Given the description of an element on the screen output the (x, y) to click on. 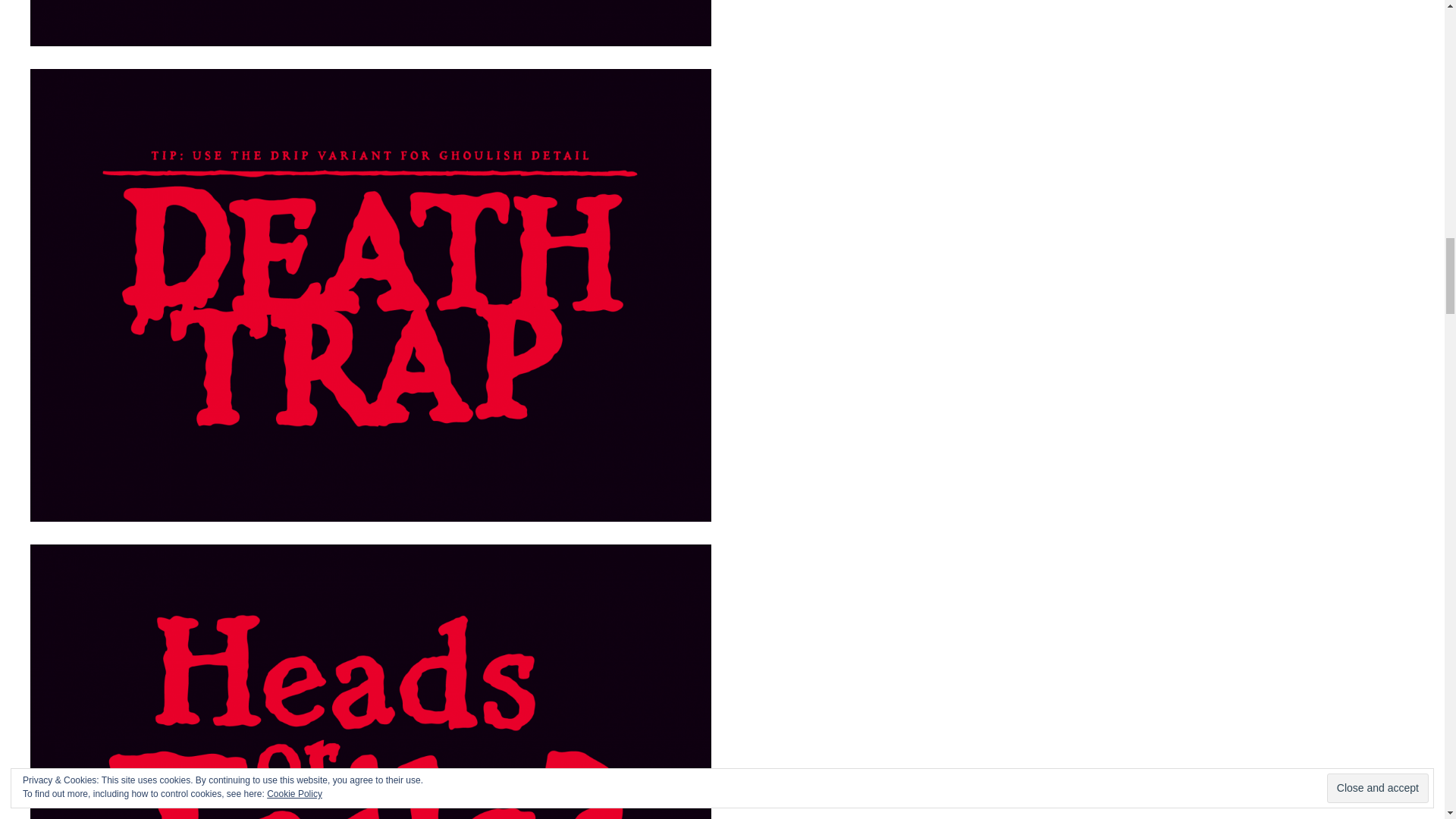
Casket - A Spine-Chilling Serif Font by Wingsart Studio (370, 22)
